Given the description of an element on the screen output the (x, y) to click on. 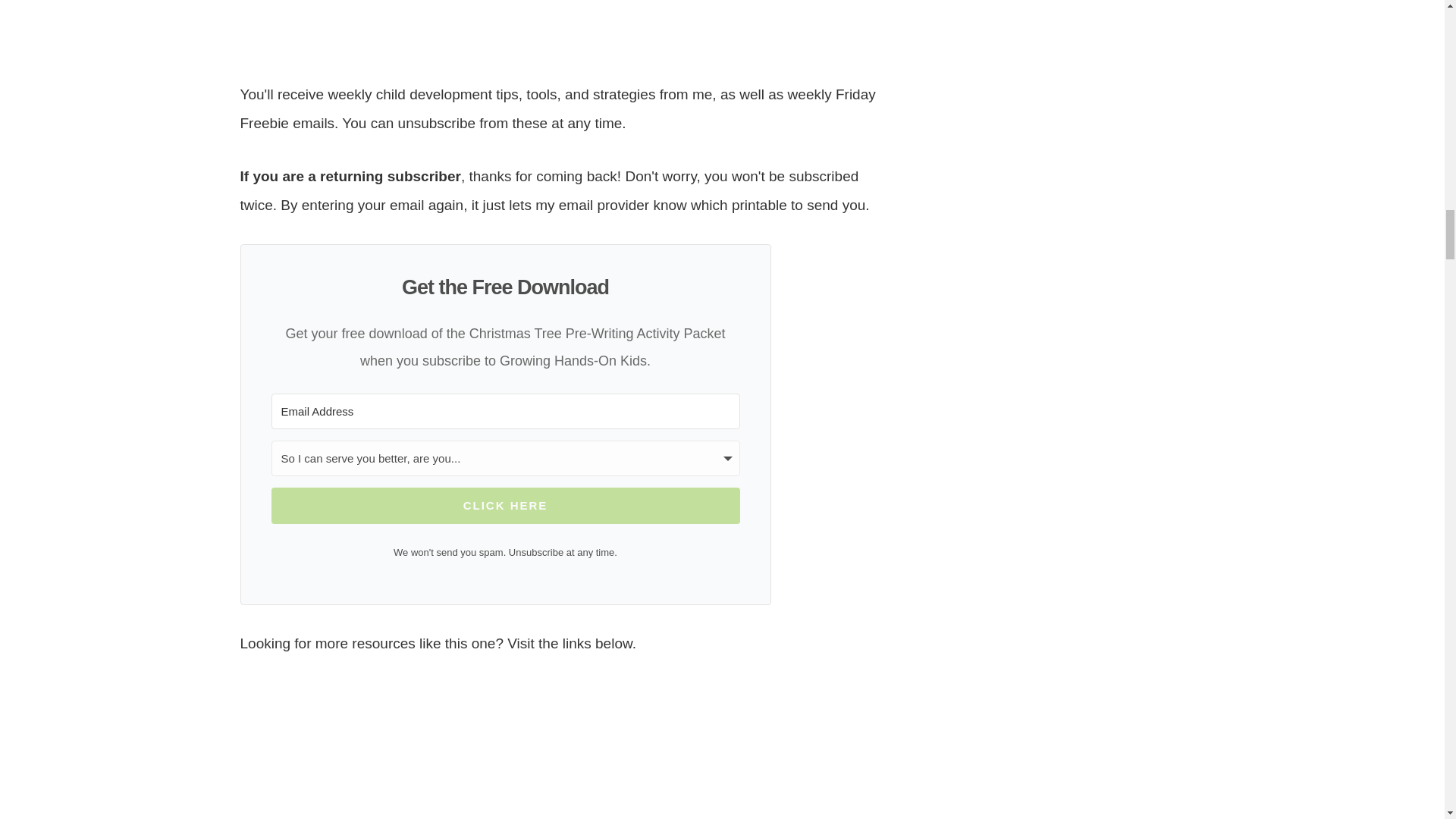
CLICK HERE (504, 505)
